Given the description of an element on the screen output the (x, y) to click on. 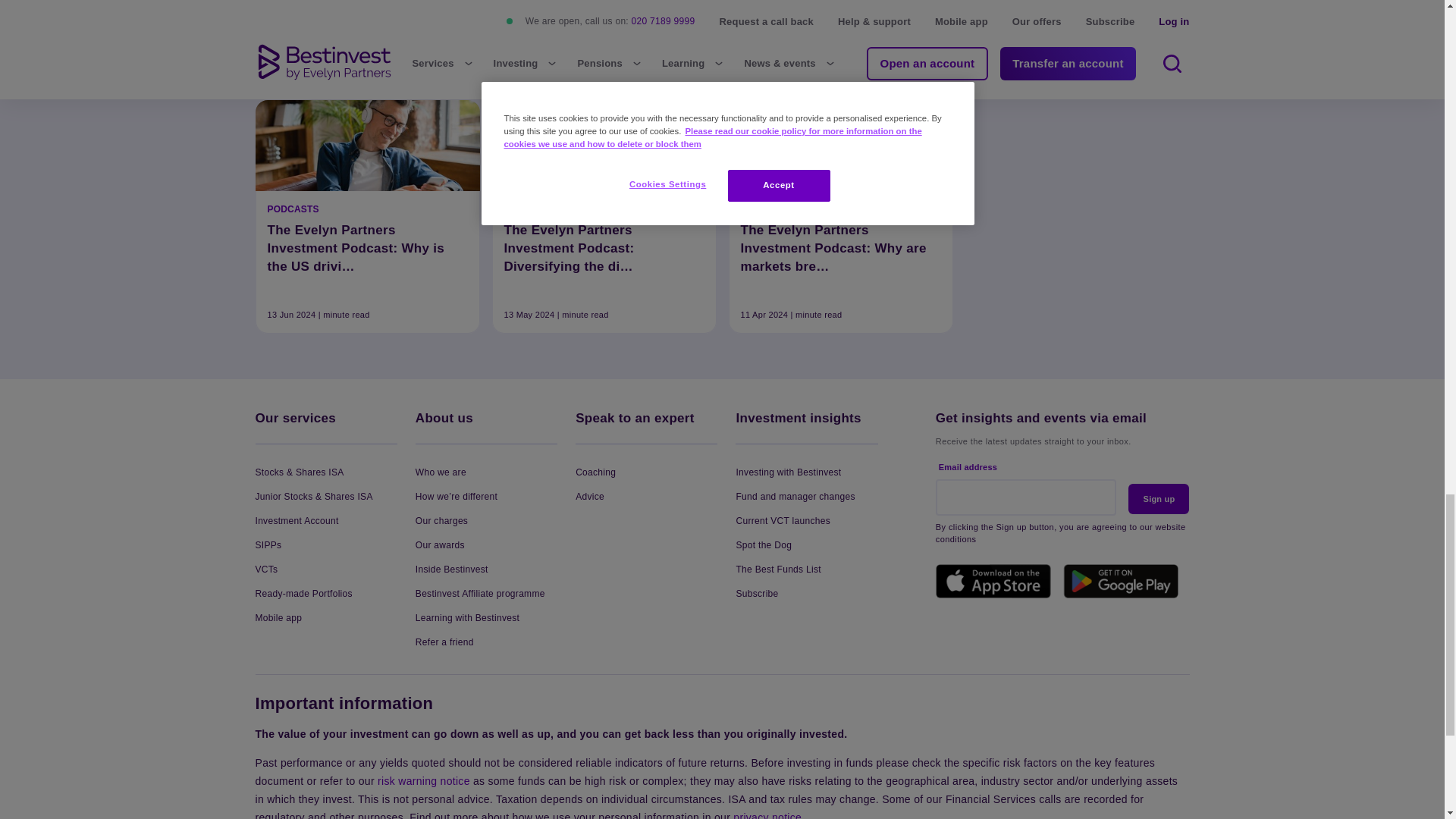
Privacy notice (767, 815)
